Given the description of an element on the screen output the (x, y) to click on. 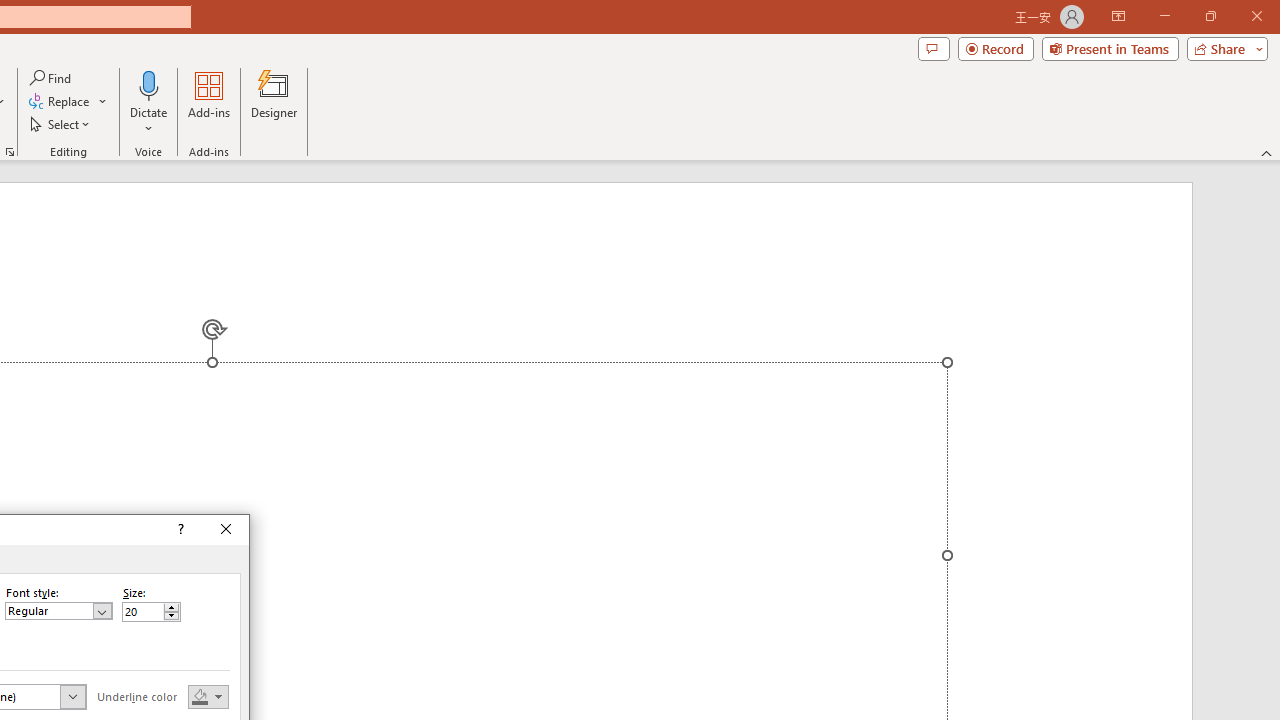
Find... (51, 78)
Less (171, 616)
Dictate (149, 102)
Designer (274, 102)
Size (142, 611)
Context help (179, 529)
More (171, 607)
